Given the description of an element on the screen output the (x, y) to click on. 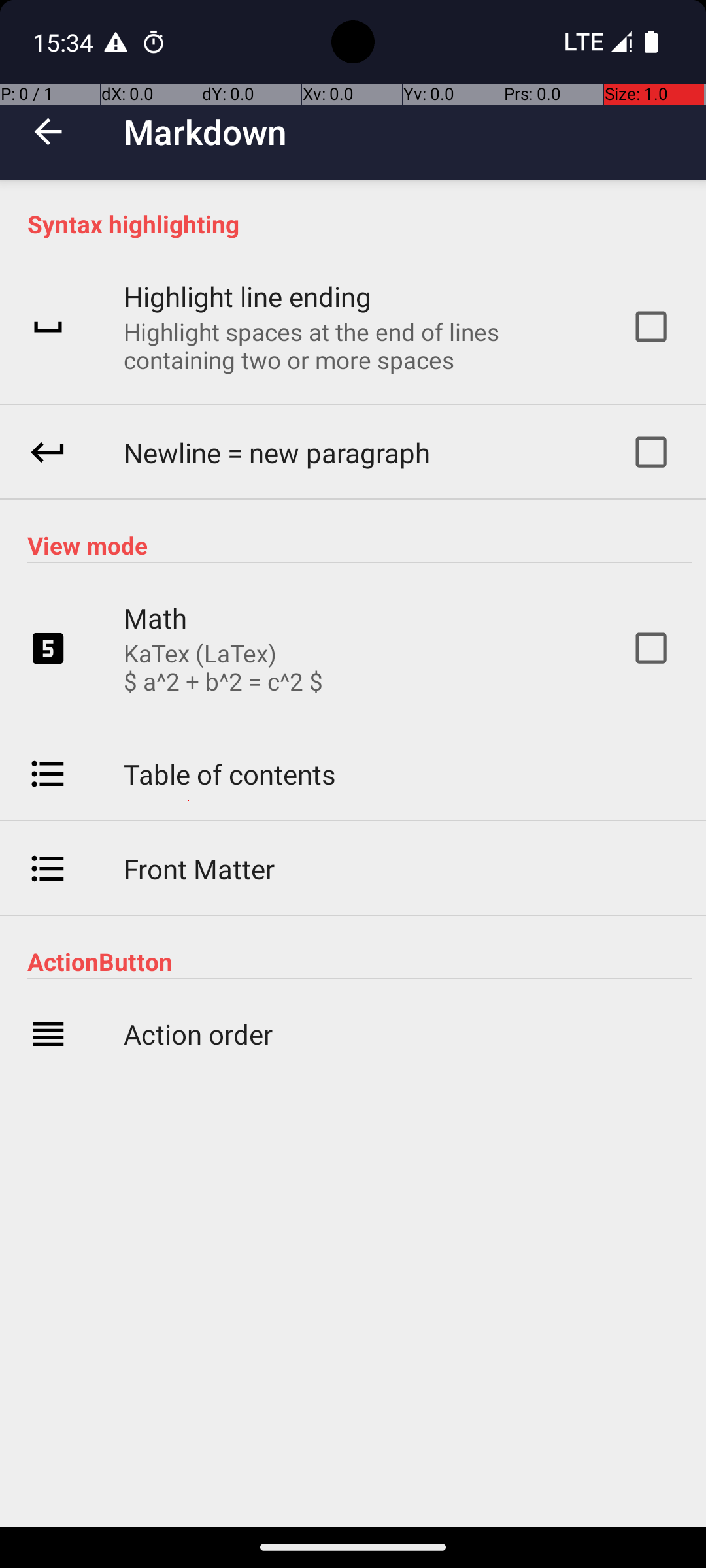
Markdown Element type: android.widget.TextView (205, 131)
Syntax highlighting Element type: android.widget.TextView (359, 223)
ActionButton Element type: android.widget.TextView (359, 961)
Highlight line ending Element type: android.widget.TextView (247, 295)
Highlight spaces at the end of lines containing two or more spaces Element type: android.widget.TextView (359, 345)
Newline = new paragraph Element type: android.widget.TextView (276, 452)
Math Element type: android.widget.TextView (154, 617)
KaTex (LaTex)
$ a^2 + b^2 = c^2 $ Element type: android.widget.TextView (222, 666)
Table of contents Element type: android.widget.TextView (229, 773)
Front Matter Element type: android.widget.TextView (199, 868)
Action order Element type: android.widget.TextView (197, 1033)
